Given the description of an element on the screen output the (x, y) to click on. 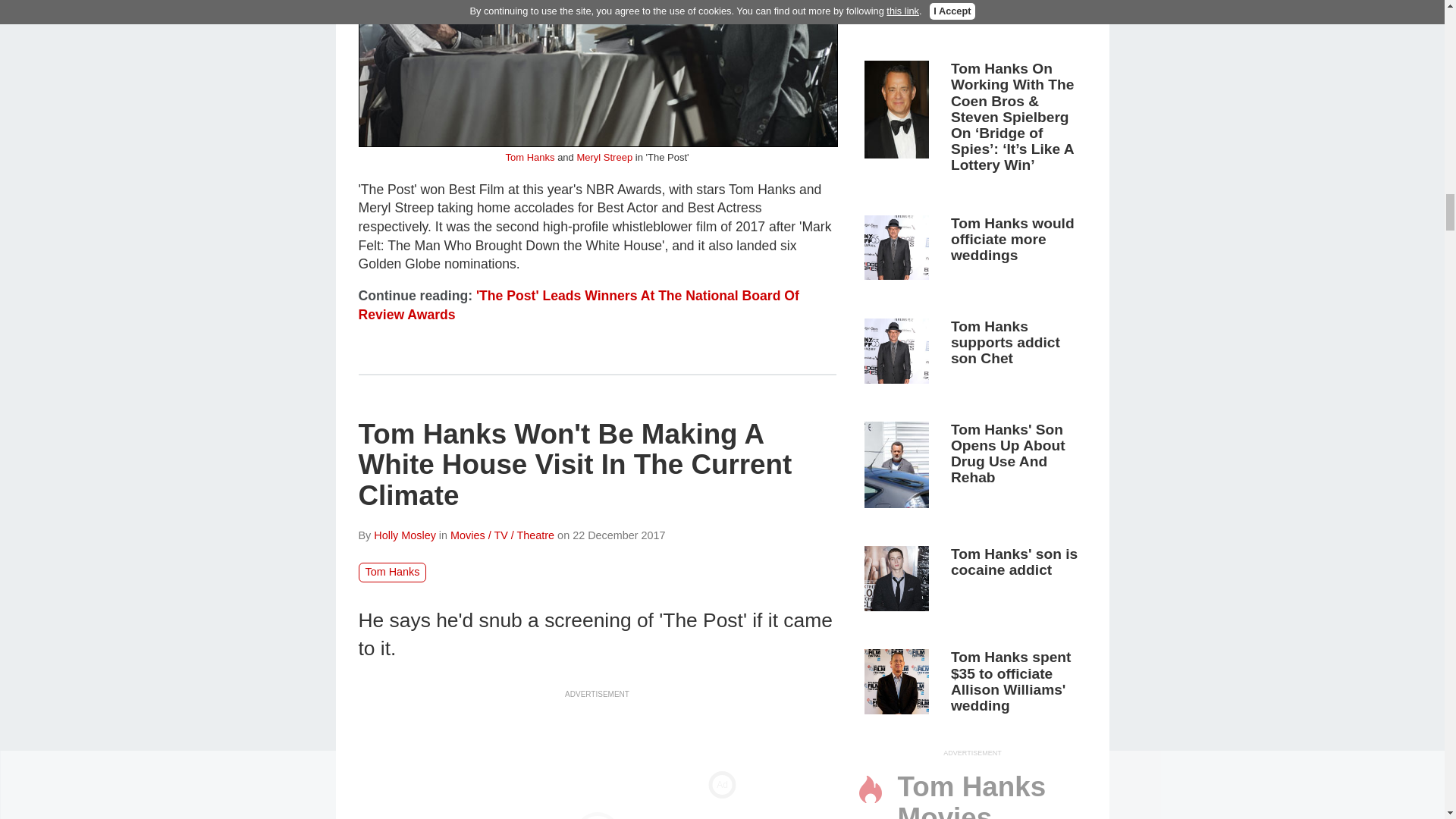
Tom Hanks and Meryl Streep in 'The Post' (597, 73)
